Given the description of an element on the screen output the (x, y) to click on. 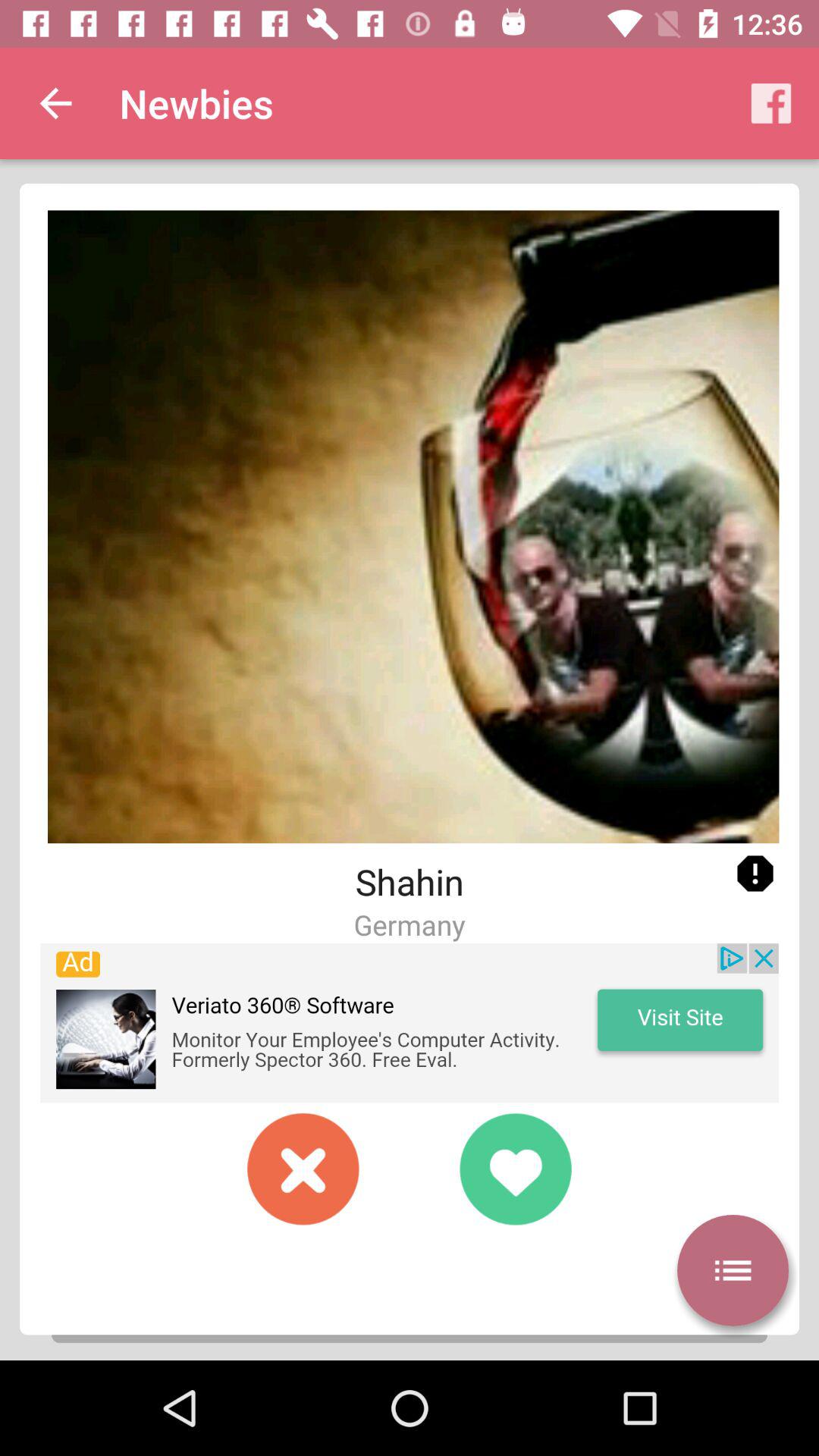
like (515, 1169)
